Given the description of an element on the screen output the (x, y) to click on. 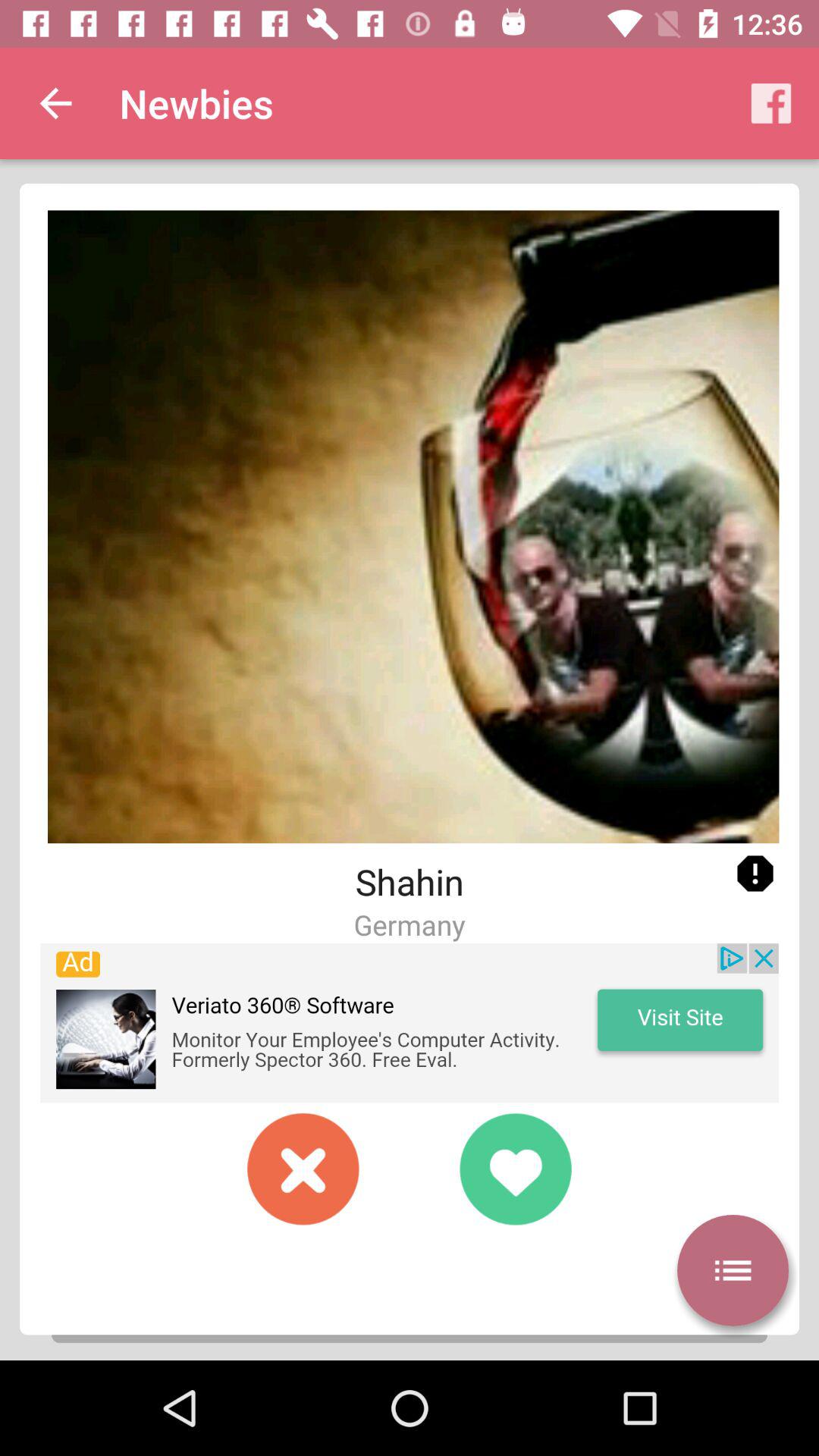
like (515, 1169)
